Given the description of an element on the screen output the (x, y) to click on. 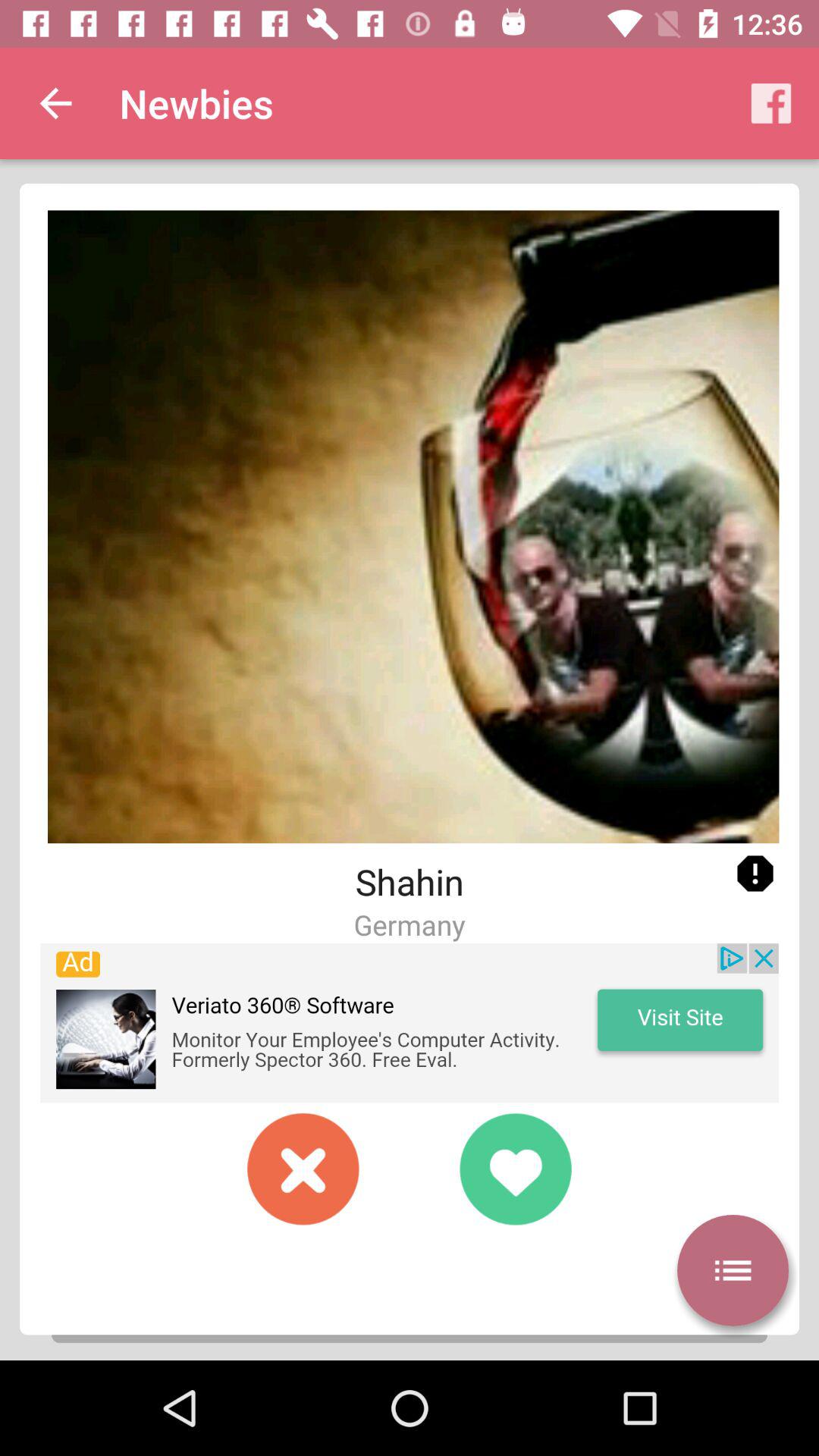
like (515, 1169)
